Given the description of an element on the screen output the (x, y) to click on. 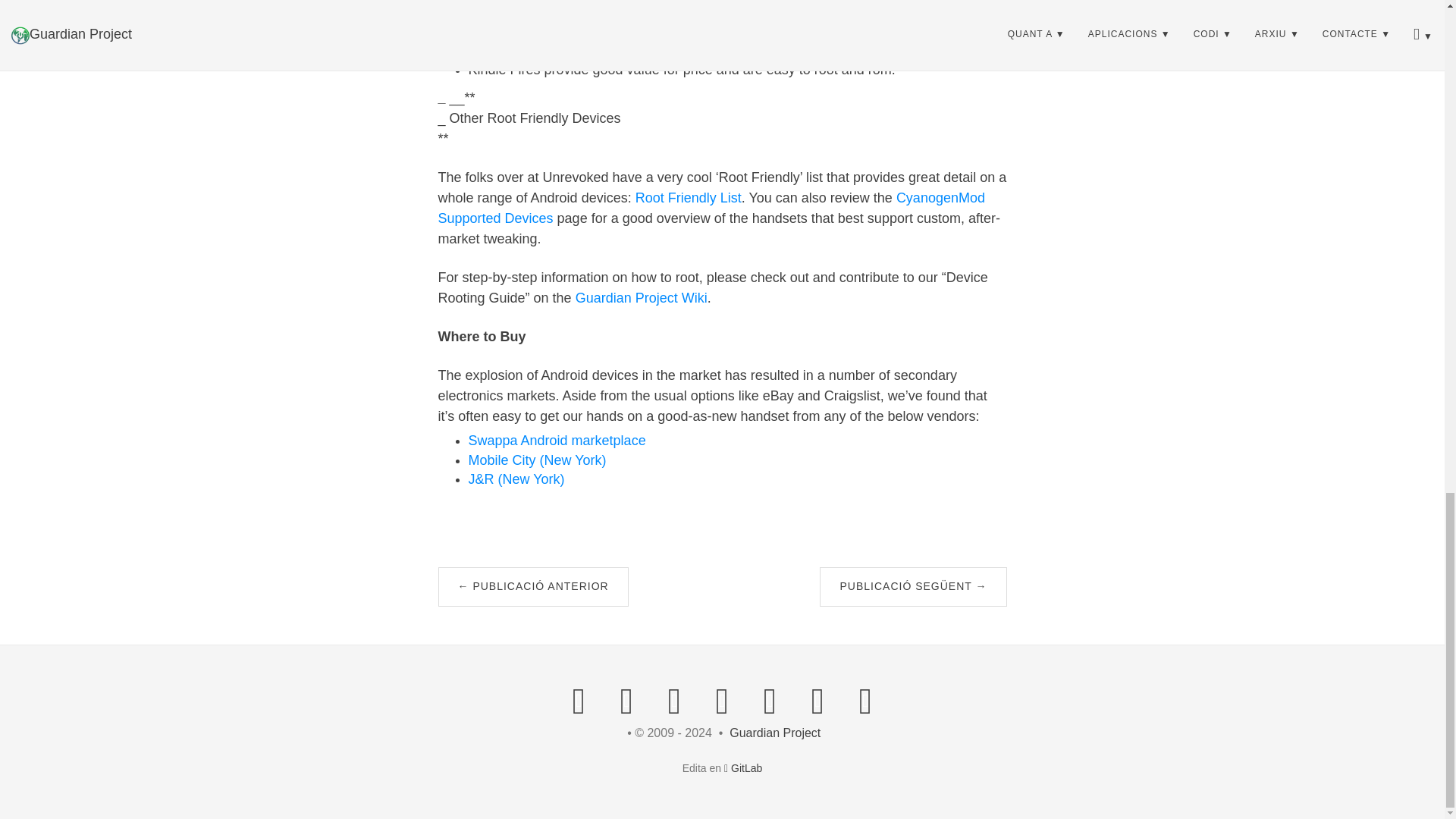
liberapay (865, 699)
matrix (721, 699)
LUKS: Disk Encryption (533, 586)
twitter (674, 699)
github (770, 699)
gitlab (817, 699)
mastodon (626, 699)
RSS (578, 699)
Lil' Debi: Mobile Debian Installer (912, 586)
nook (722, 8)
